Given the description of an element on the screen output the (x, y) to click on. 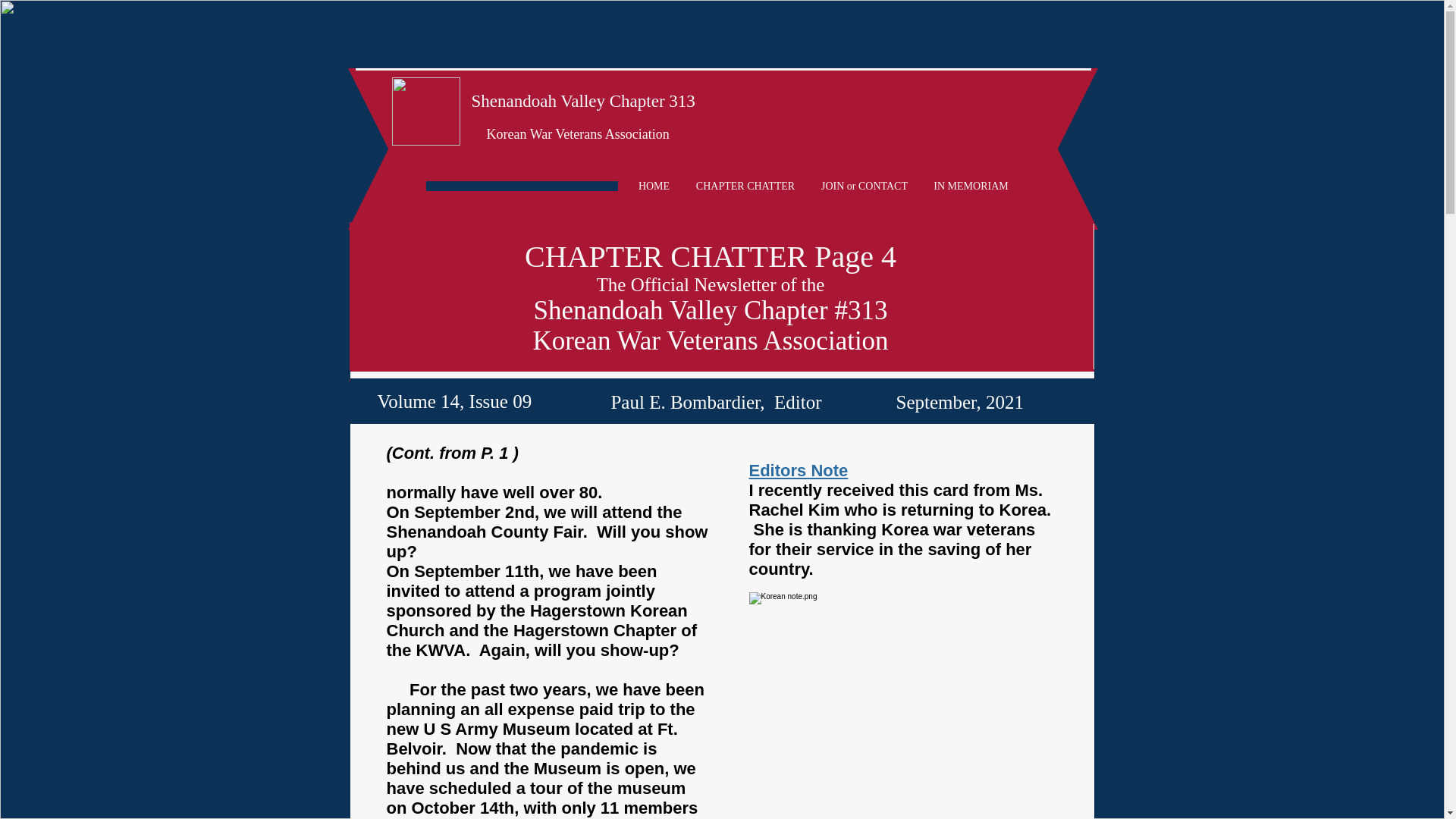
Korean War Veterans Association (577, 133)
CHAPTER CHATTER (745, 185)
IN MEMORIAM (970, 185)
HOME (653, 185)
Shenandoah Valley Chapter (568, 100)
JOIN or CONTACT (864, 185)
